Given the description of an element on the screen output the (x, y) to click on. 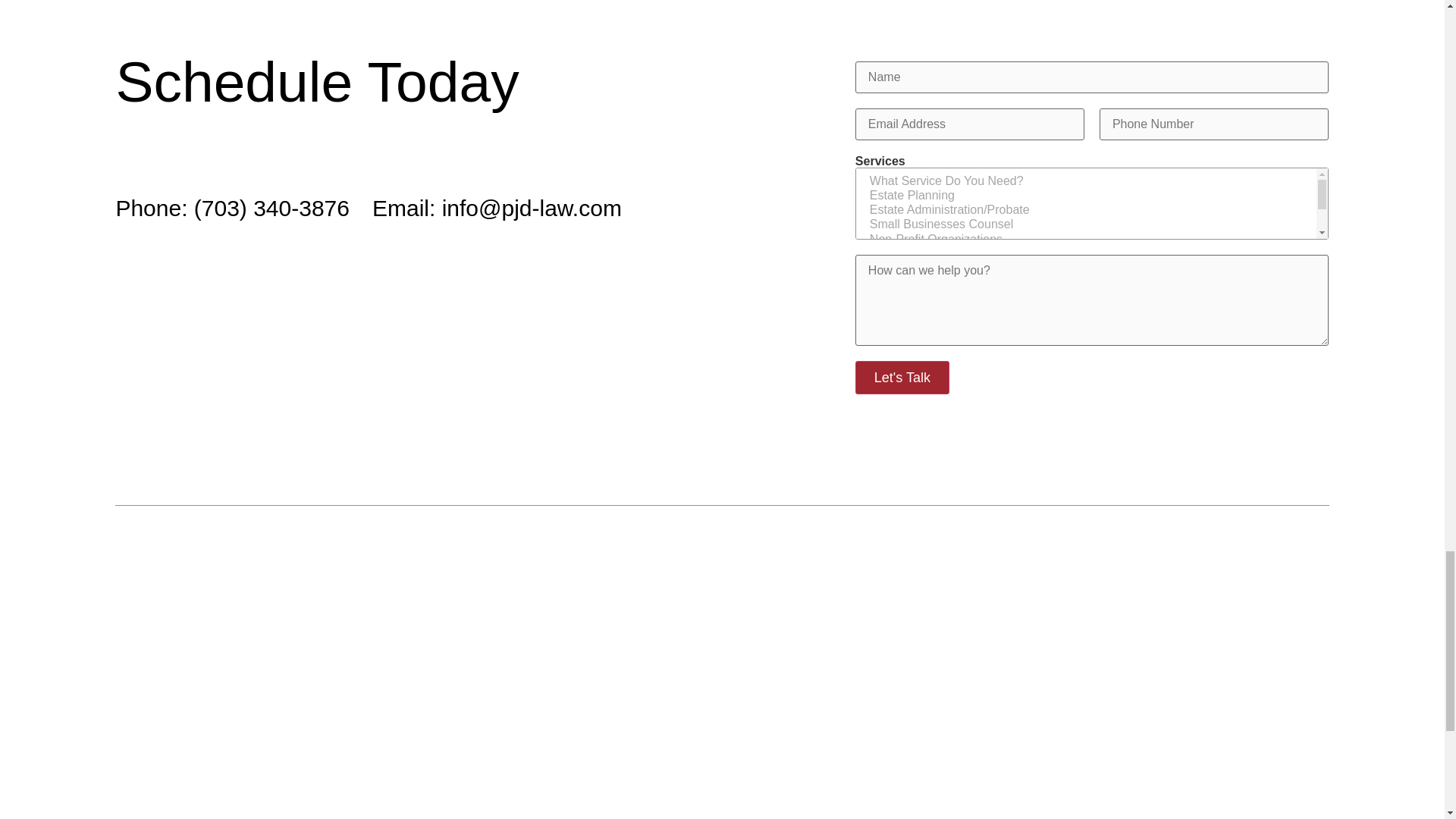
Let'S Talk (902, 377)
